Given the description of an element on the screen output the (x, y) to click on. 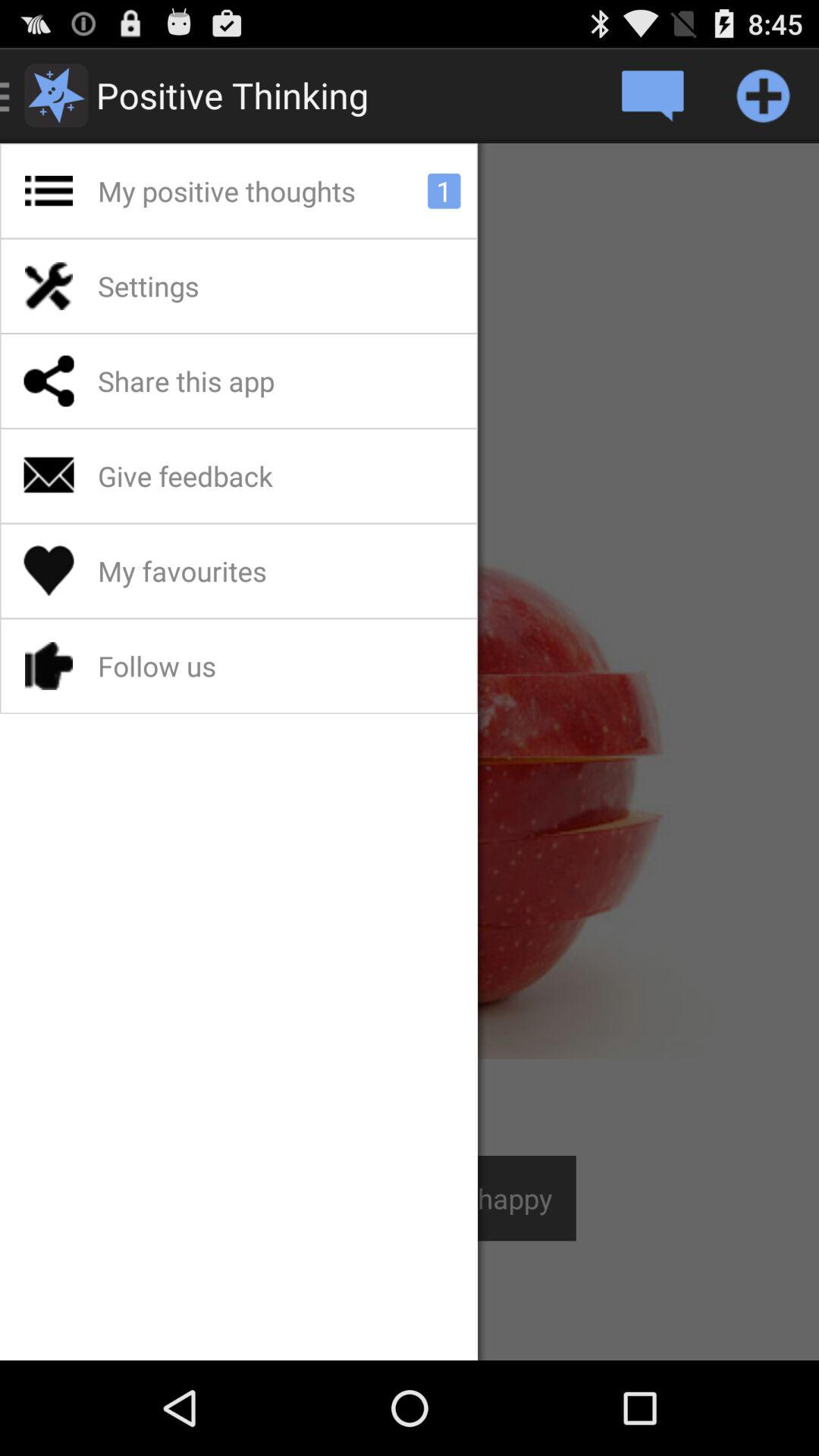
goto the comments section (651, 95)
